Given the description of an element on the screen output the (x, y) to click on. 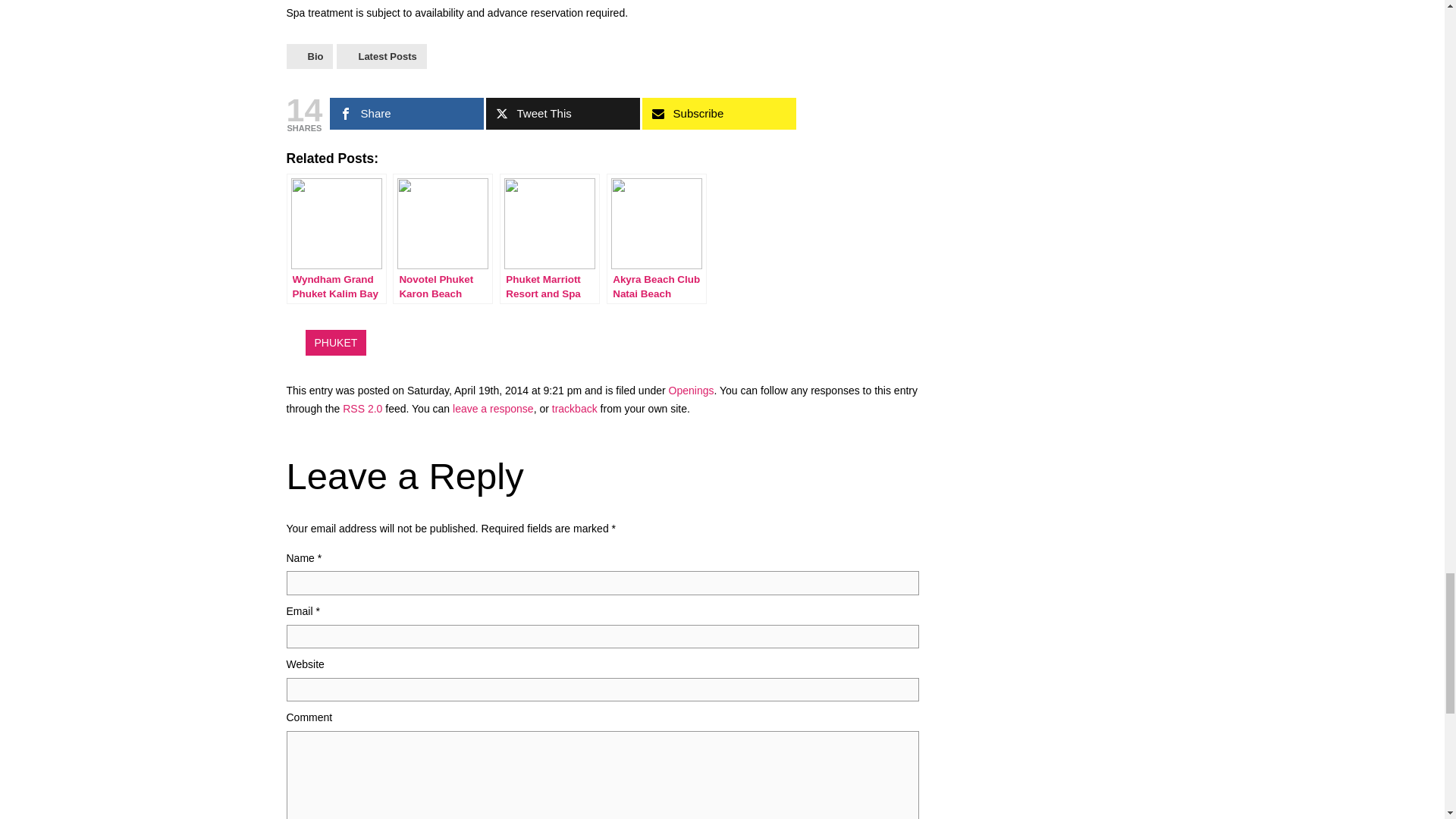
Openings (691, 390)
PHUKET (335, 343)
Tweet This (563, 113)
Share (406, 113)
Subscribe (719, 113)
Phuket (335, 343)
Bio (309, 56)
Latest Posts (381, 56)
